Given the description of an element on the screen output the (x, y) to click on. 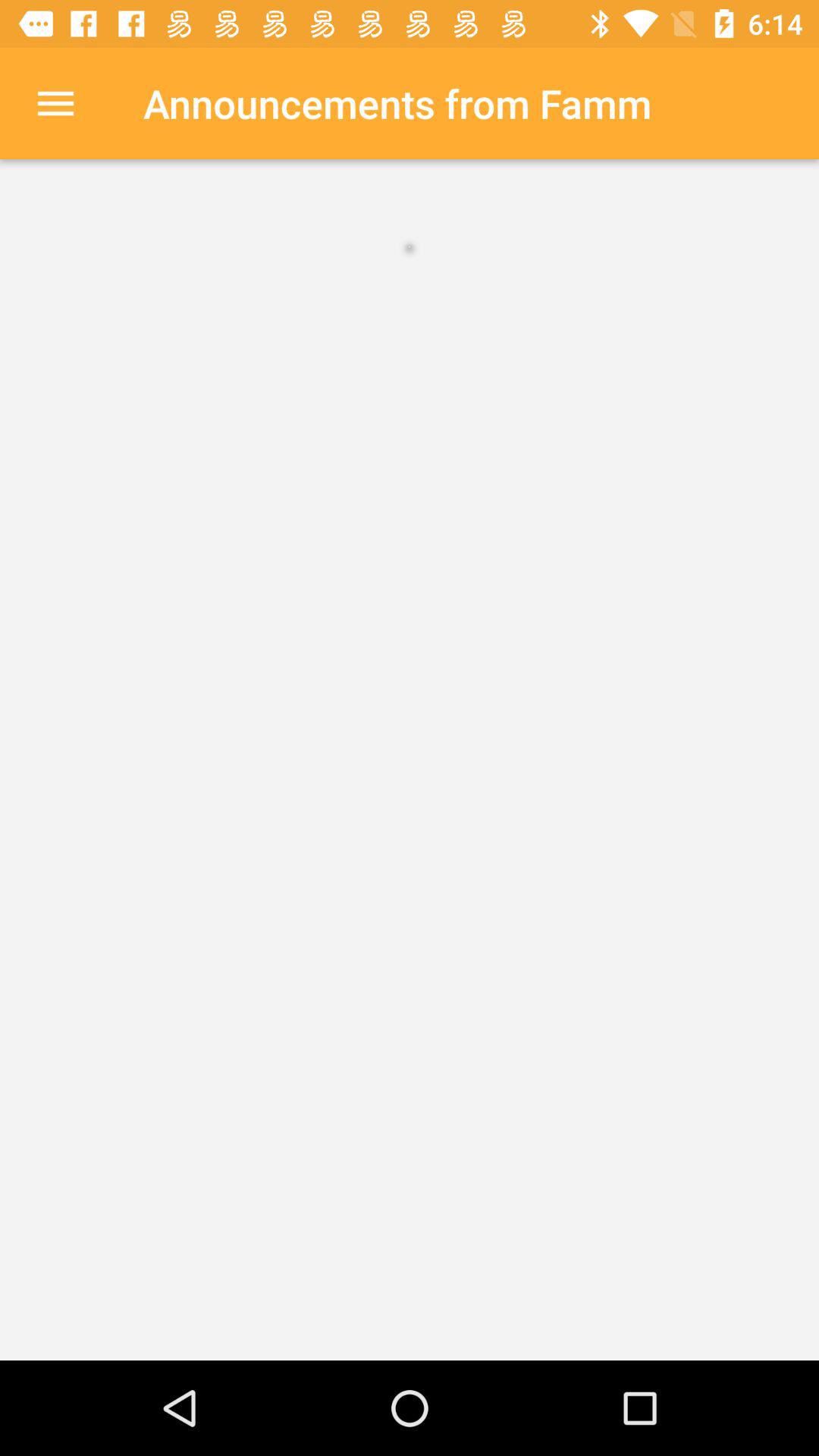
choose the icon next to the announcements from famm icon (55, 103)
